Given the description of an element on the screen output the (x, y) to click on. 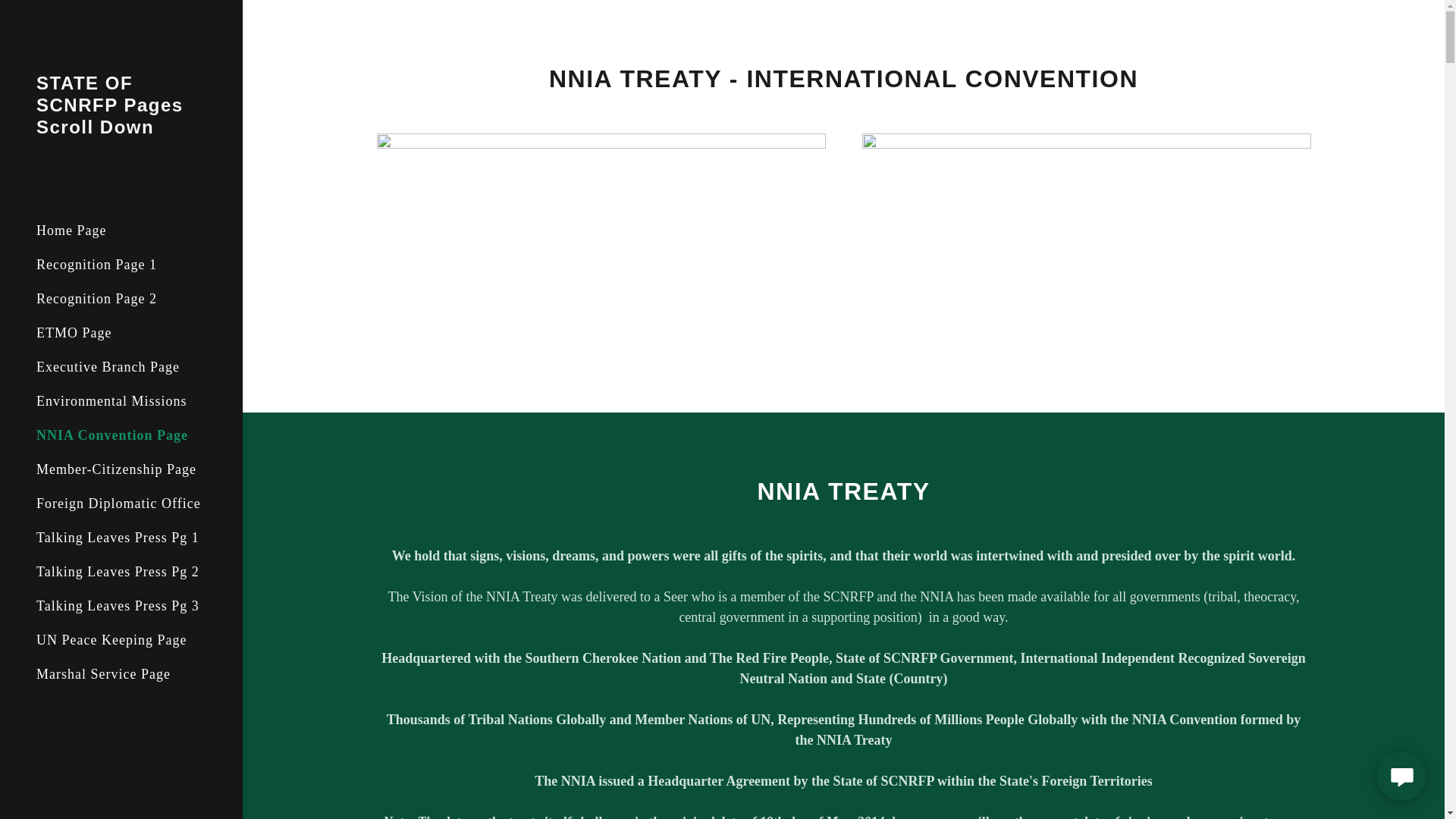
STATE OF SCNRFP Pages Scroll Down (121, 128)
Talking Leaves Press Pg 1 (117, 537)
Environmental Missions (111, 400)
Talking Leaves Press Pg 2 (117, 571)
Marshal Service Page (103, 673)
Recognition Page 2 (96, 298)
Talking Leaves Press Pg 3 (117, 605)
STATE OF SCNRFP Pages Scroll Down (121, 128)
Executive Branch Page (107, 366)
Home Page (71, 230)
